Given the description of an element on the screen output the (x, y) to click on. 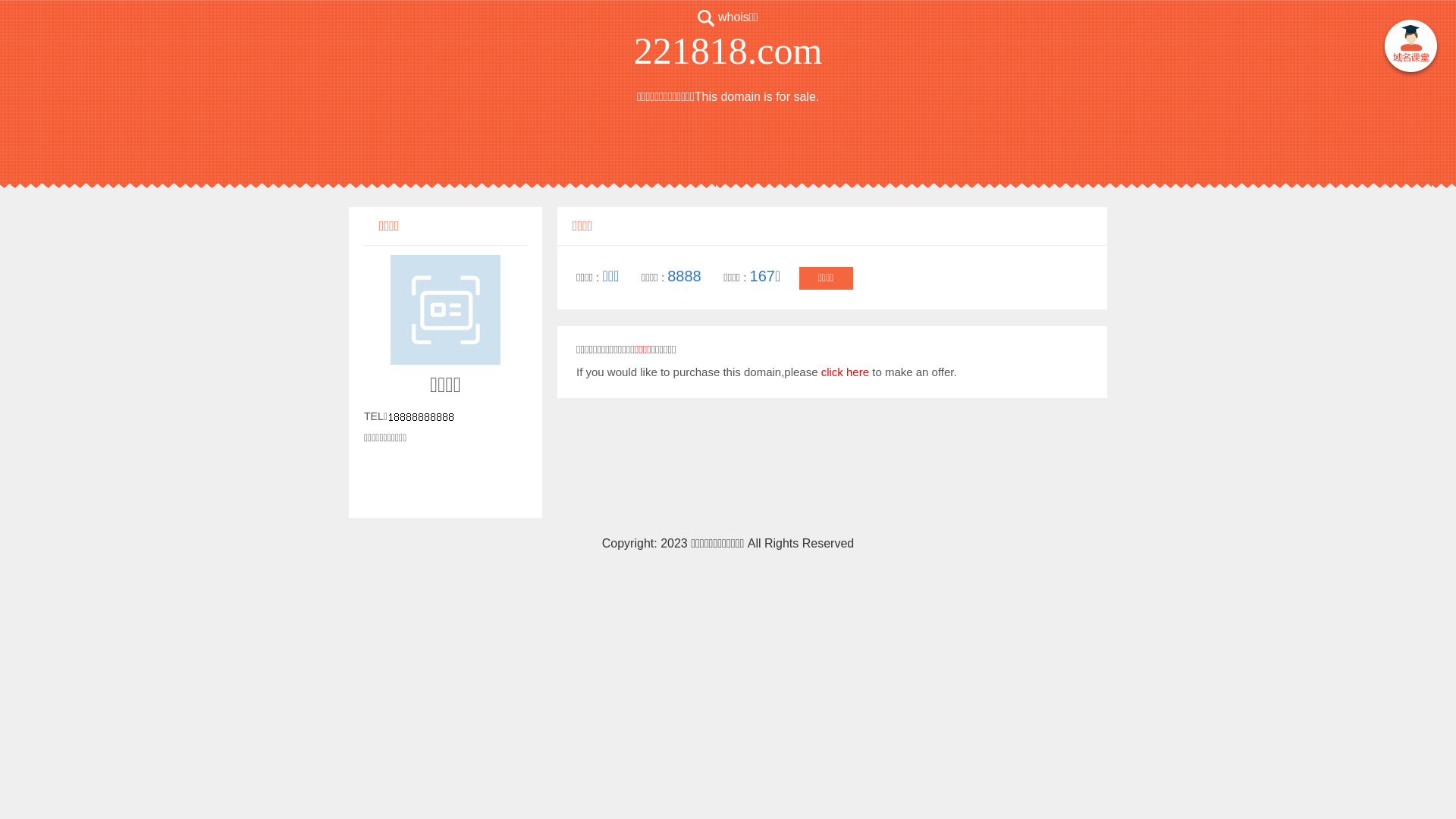
click here Element type: text (845, 371)
  Element type: text (1410, 48)
